Given the description of an element on the screen output the (x, y) to click on. 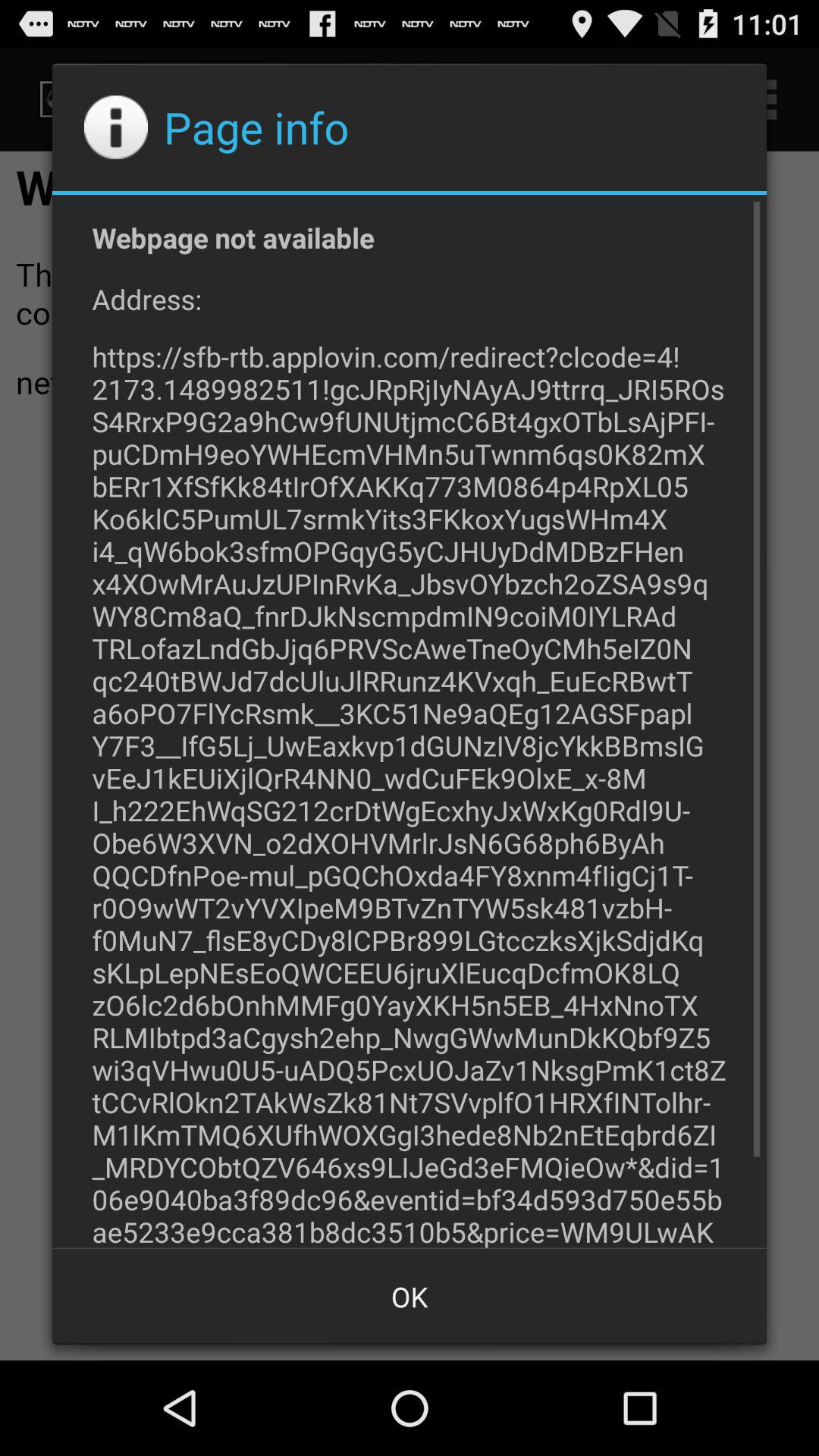
press the button at the bottom (409, 1296)
